Given the description of an element on the screen output the (x, y) to click on. 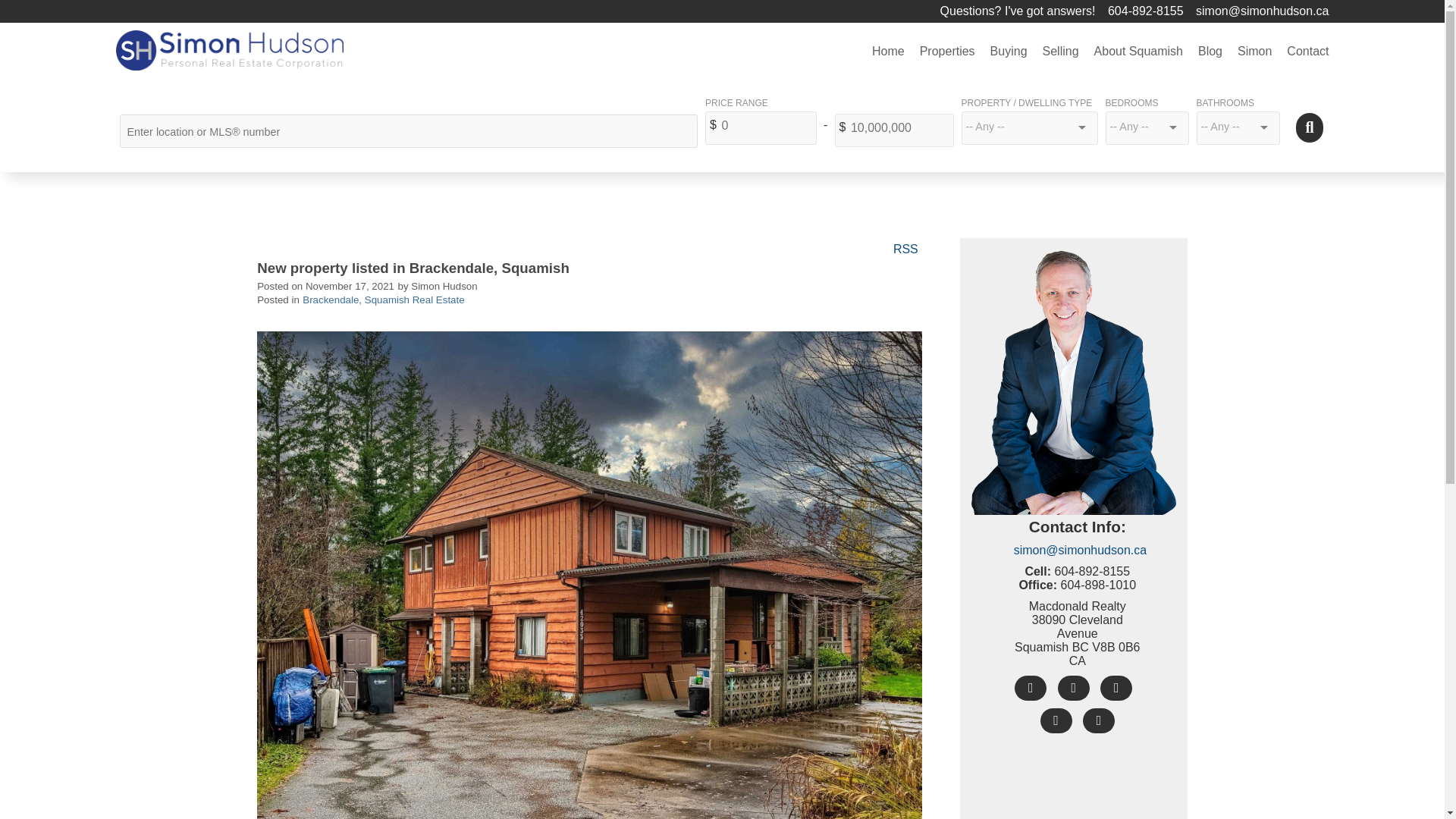
Selling (1060, 51)
Brackendale, Squamish Real Estate (383, 299)
Home (888, 51)
About Squamish (1138, 51)
Blog (1210, 51)
Buying (1008, 51)
604-892-8155 (1150, 10)
Simon (1254, 51)
RSS (905, 247)
Contact (1303, 51)
Properties (947, 51)
